Given the description of an element on the screen output the (x, y) to click on. 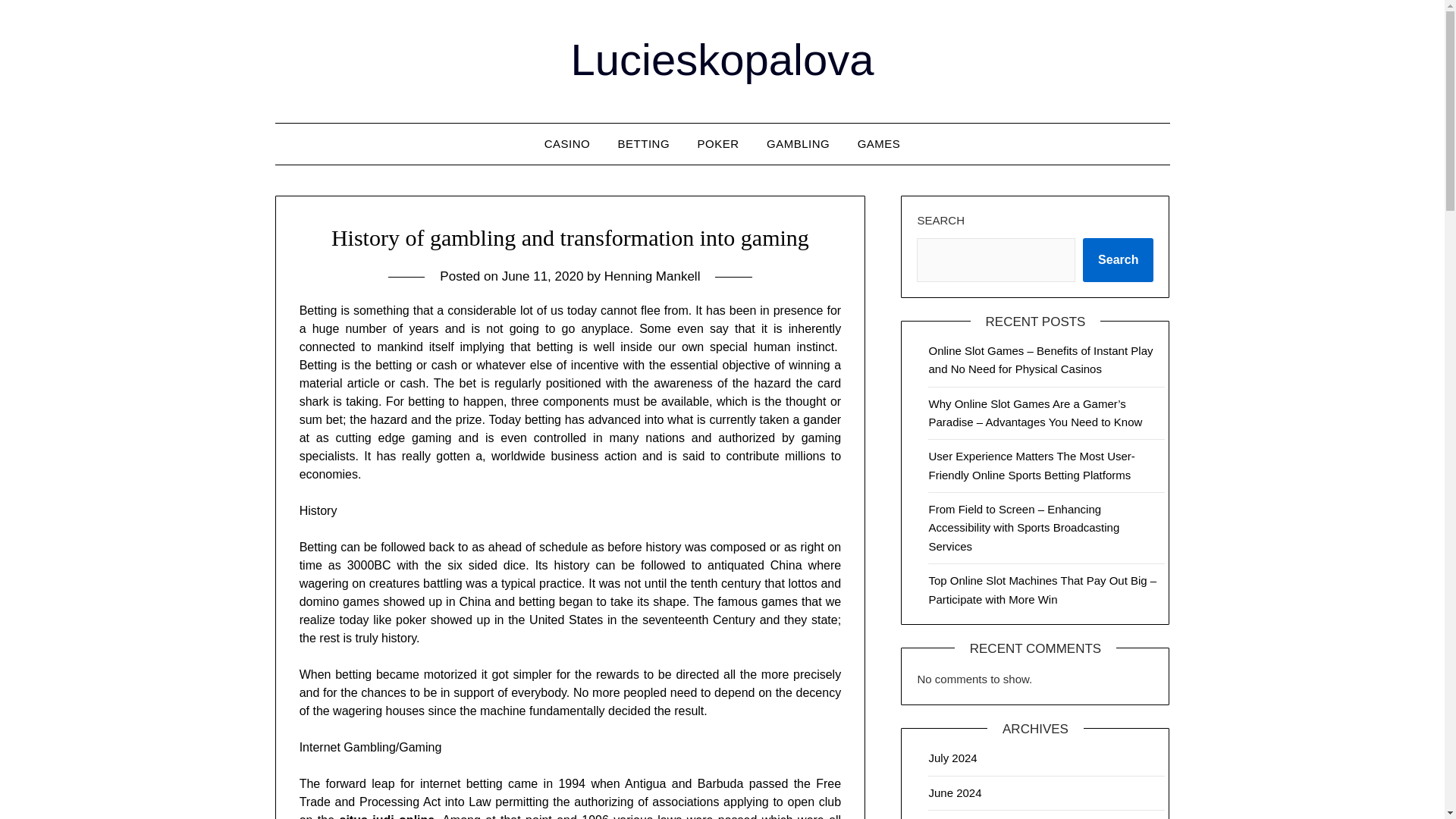
Search (1118, 259)
GAMBLING (797, 143)
BETTING (643, 143)
Lucieskopalova (722, 59)
June 2024 (954, 792)
GAMES (878, 143)
July 2024 (952, 757)
June 11, 2020 (542, 276)
CASINO (567, 143)
POKER (718, 143)
situs judi online (387, 816)
Henning Mankell (652, 276)
